Given the description of an element on the screen output the (x, y) to click on. 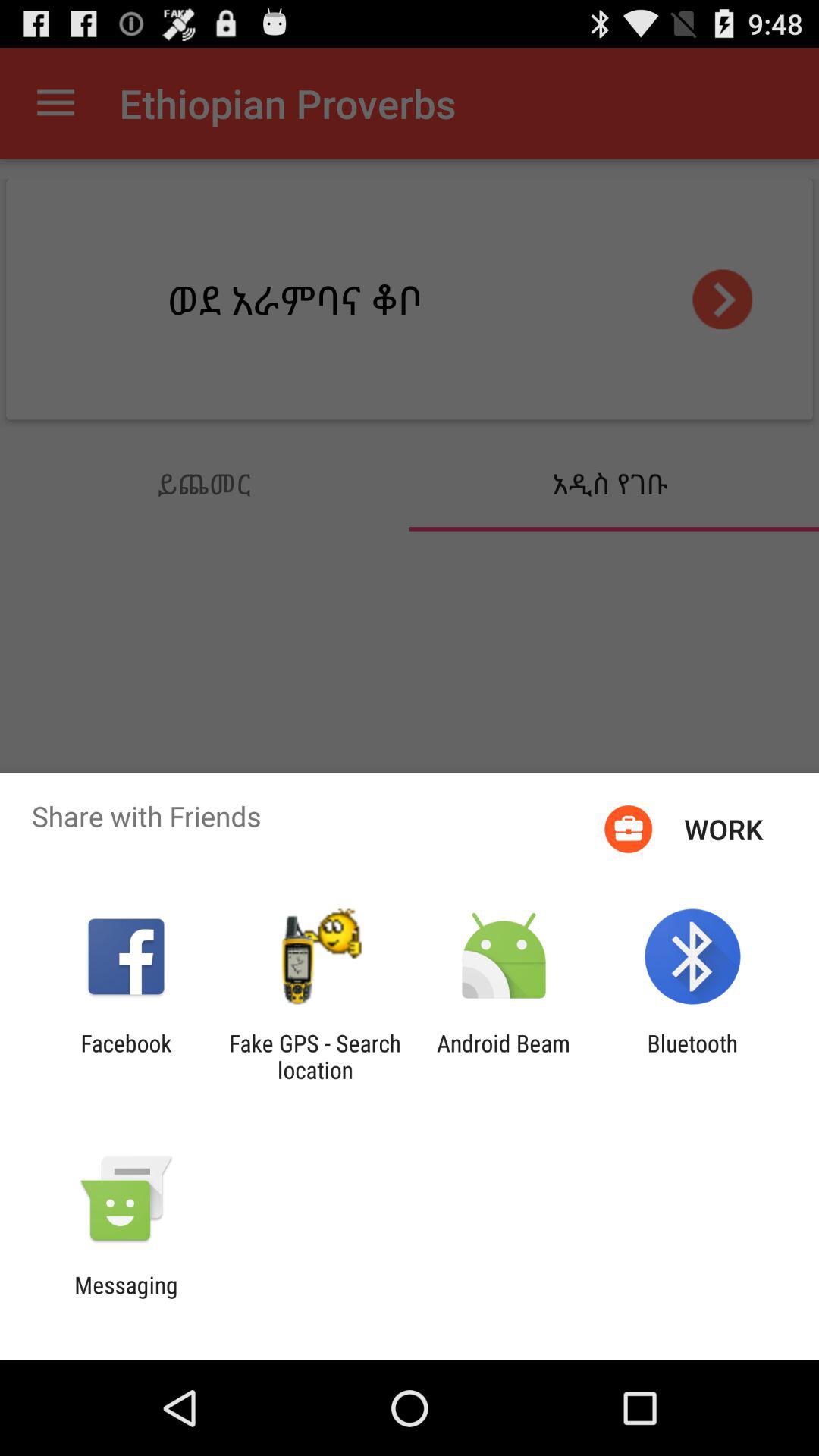
open fake gps search item (314, 1056)
